Given the description of an element on the screen output the (x, y) to click on. 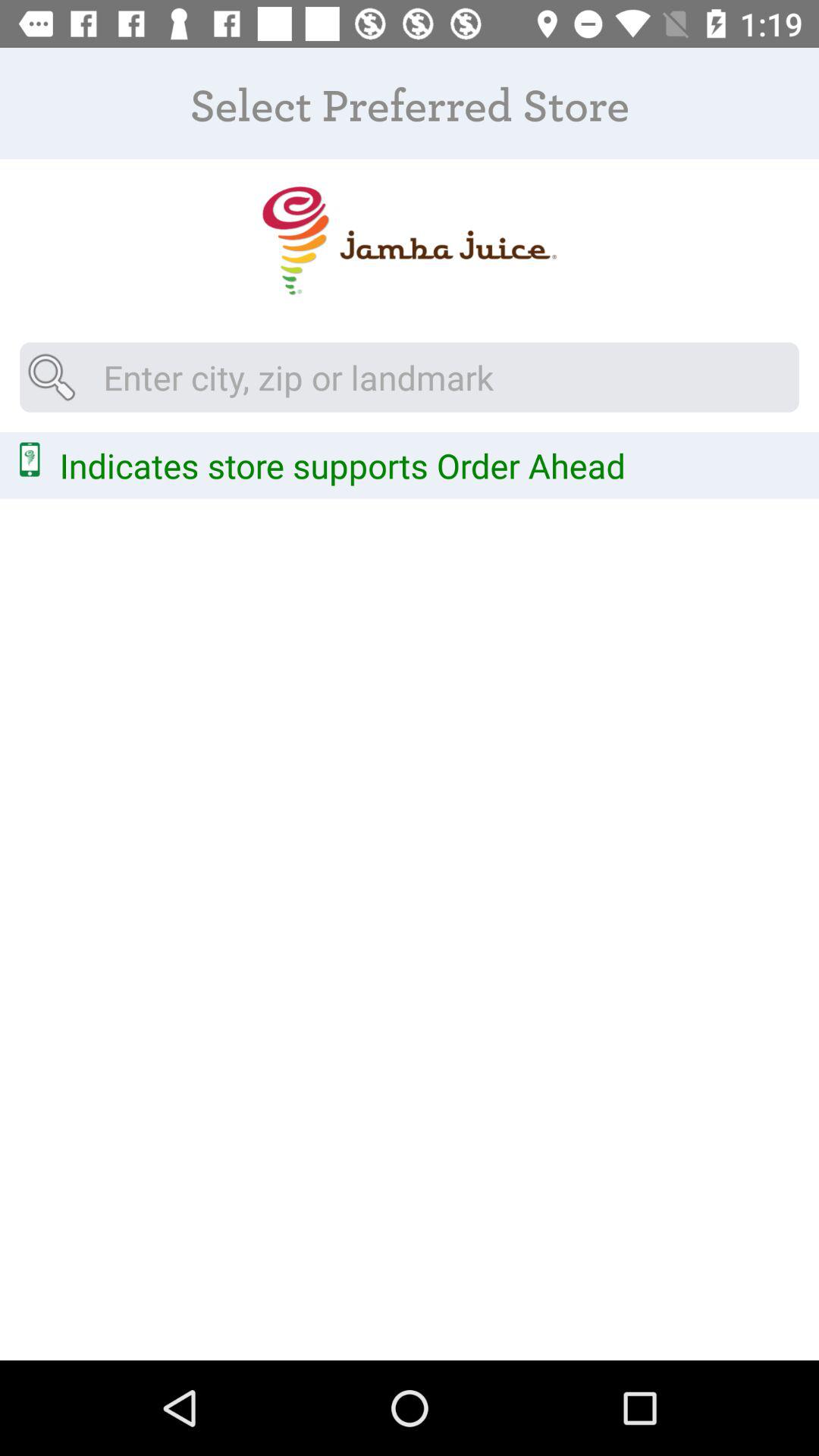
click to select preferred store (408, 240)
